Given the description of an element on the screen output the (x, y) to click on. 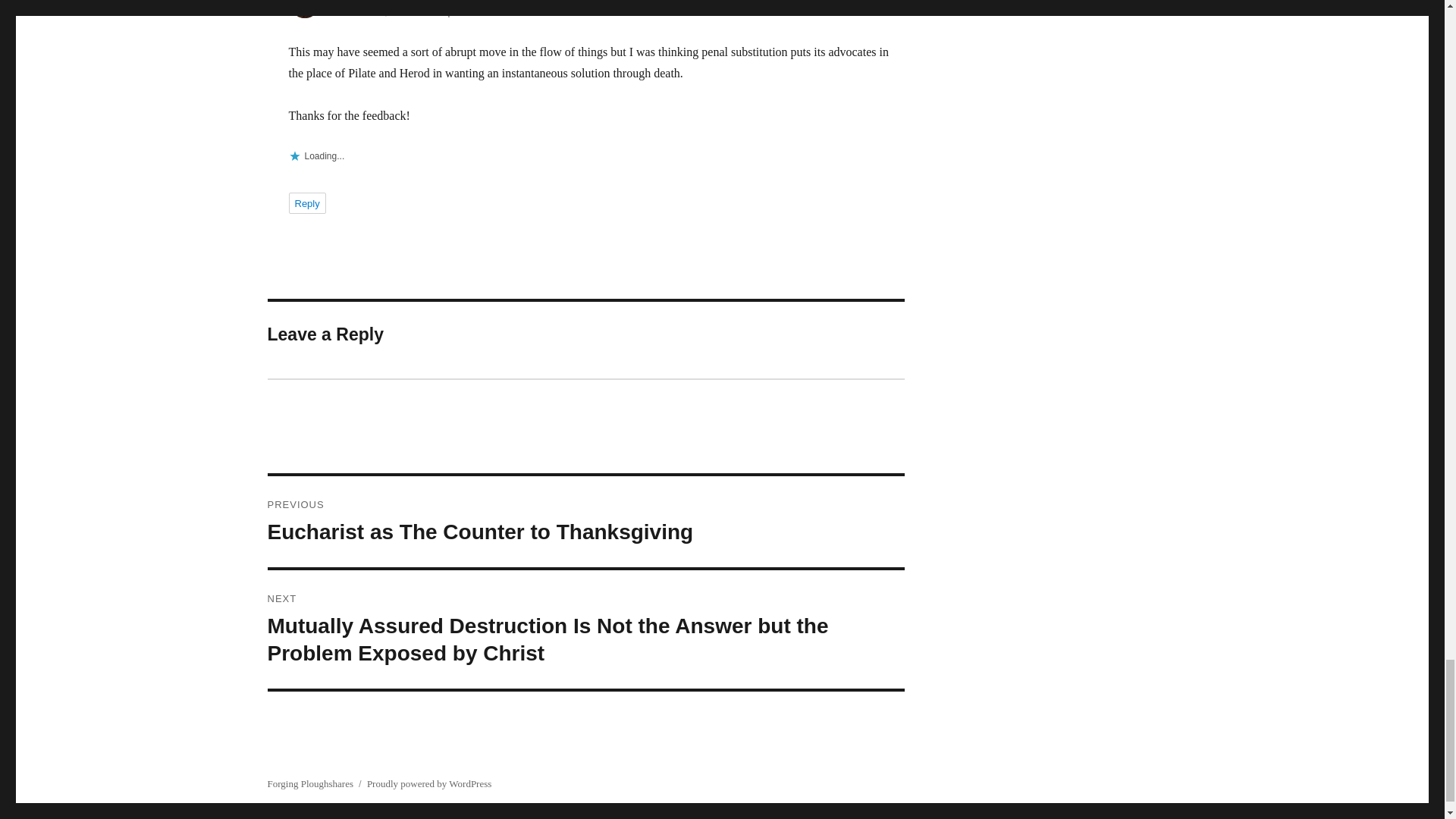
Reply (306, 202)
December 5, 2019 at 4:36 pm (395, 11)
